Given the description of an element on the screen output the (x, y) to click on. 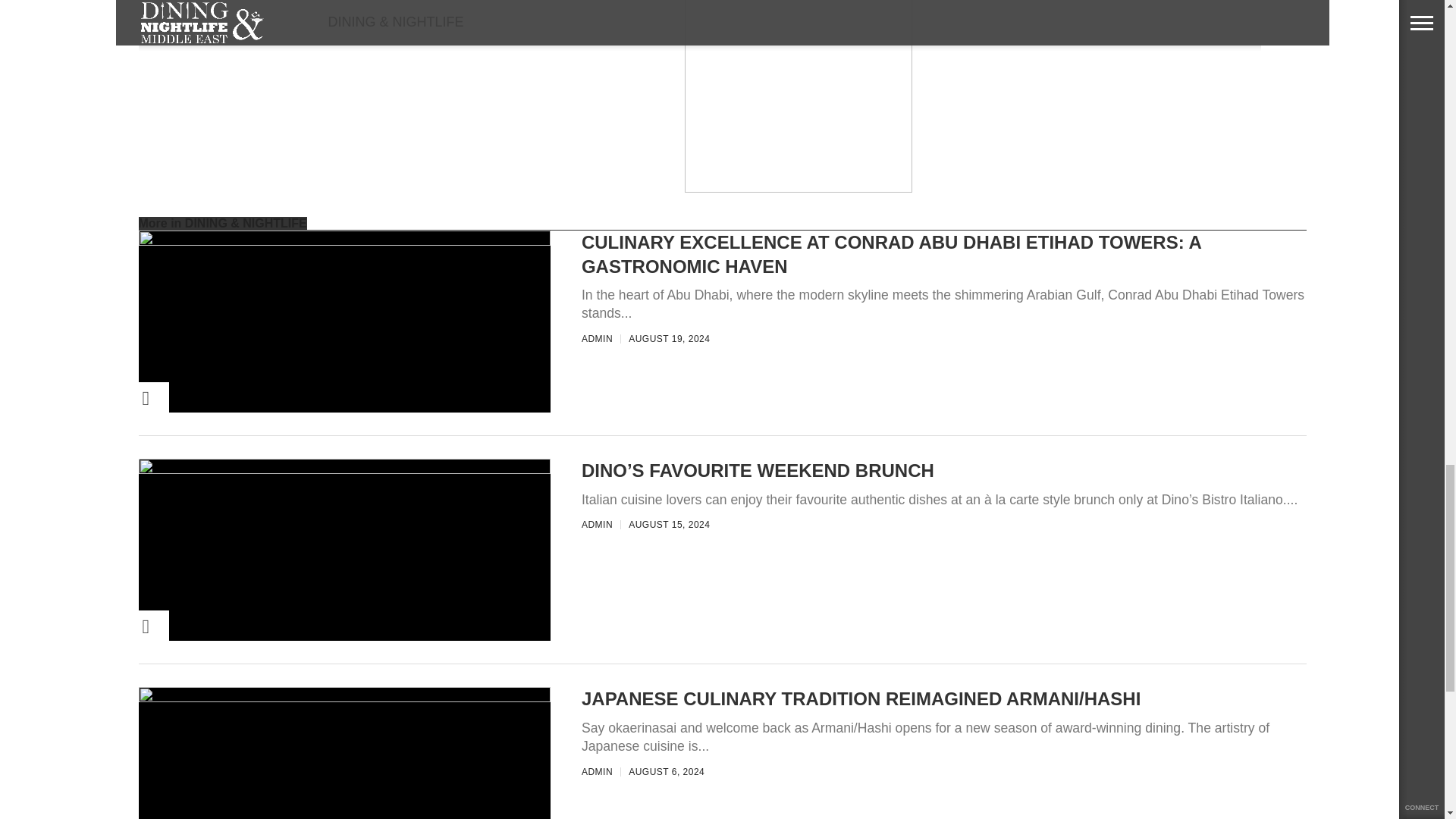
Pin This Post (122, 398)
Pin This Post (122, 626)
